Given the description of an element on the screen output the (x, y) to click on. 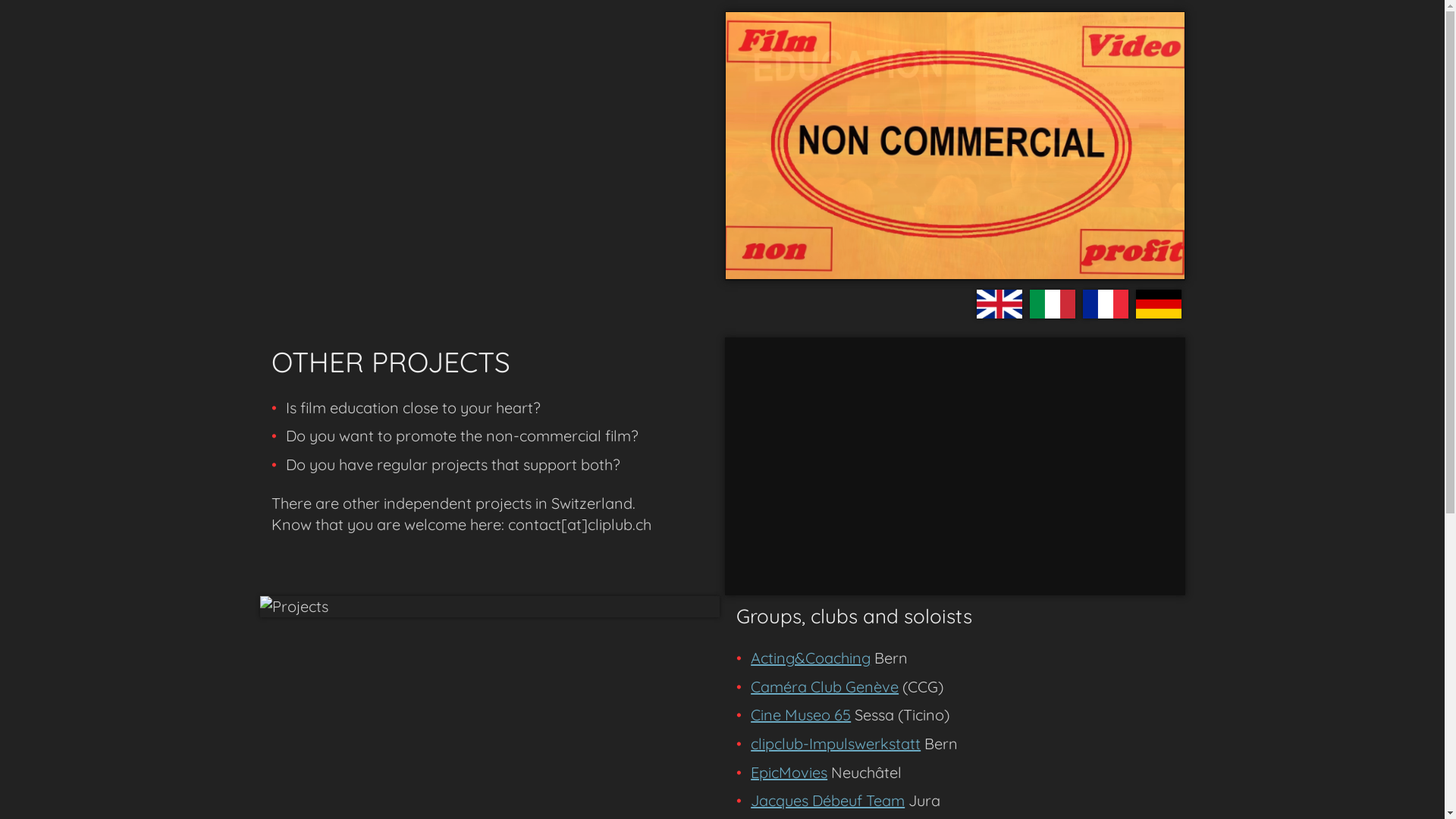
Cine Museo 65 Element type: text (800, 714)
clipclub-Impulswerkstatt Element type: text (835, 743)
      Element type: text (318, 88)
Acting&Coaching Element type: text (810, 657)
YouTube video player Element type: hover (954, 464)
EpicMovies Element type: text (788, 771)
